Given the description of an element on the screen output the (x, y) to click on. 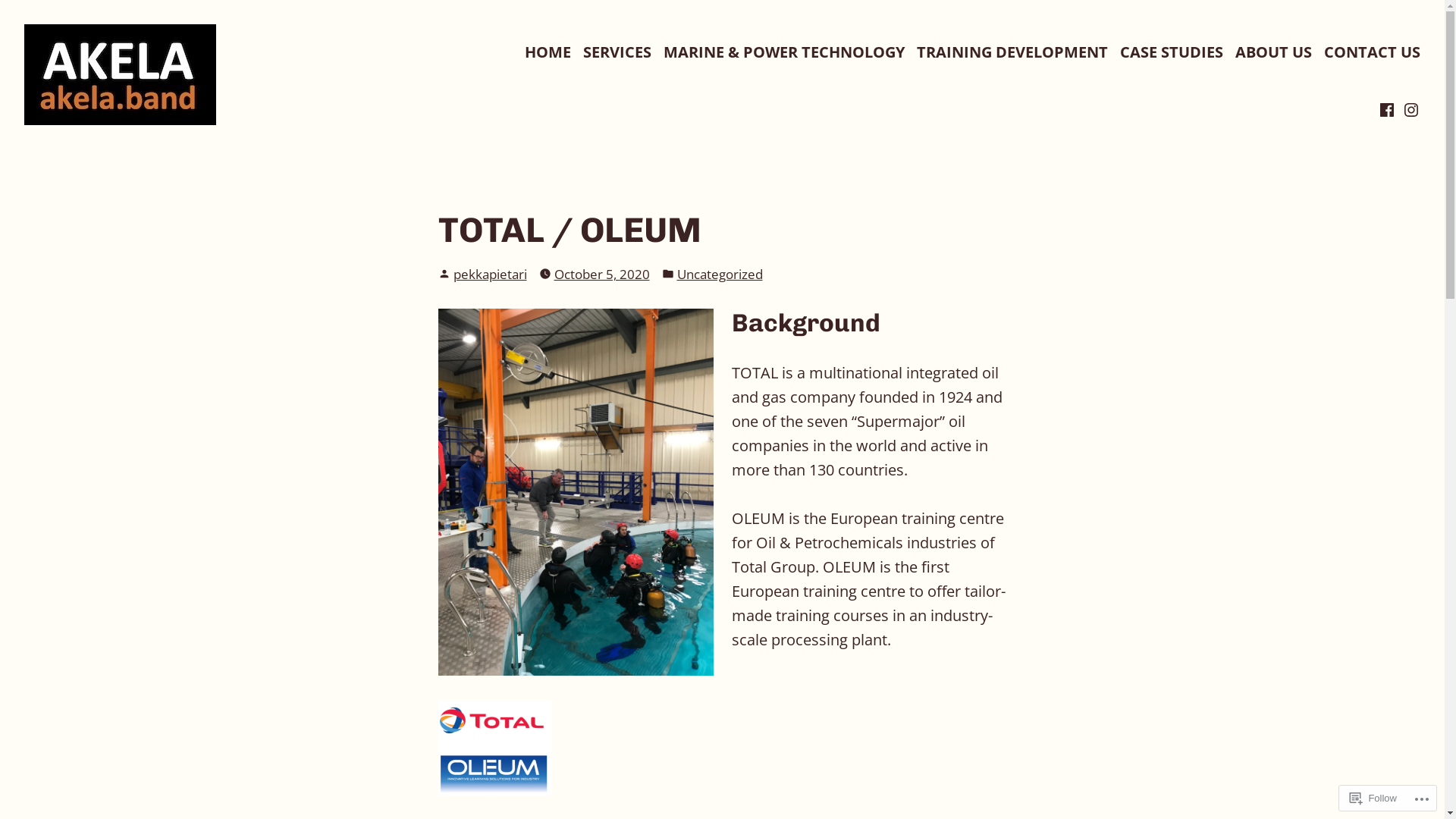
Follow Element type: text (1372, 797)
MARINE & POWER TECHNOLOGY Element type: text (783, 52)
CASE STUDIES Element type: text (1171, 52)
Uncategorized Element type: text (719, 273)
ABOUT US Element type: text (1273, 52)
SERVICES Element type: text (617, 52)
HOME Element type: text (547, 52)
akela Element type: text (32, 148)
pekkapietari Element type: text (490, 273)
October 5, 2020 Element type: text (601, 273)
TRAINING DEVELOPMENT Element type: text (1011, 52)
CONTACT US Element type: text (1372, 52)
